Given the description of an element on the screen output the (x, y) to click on. 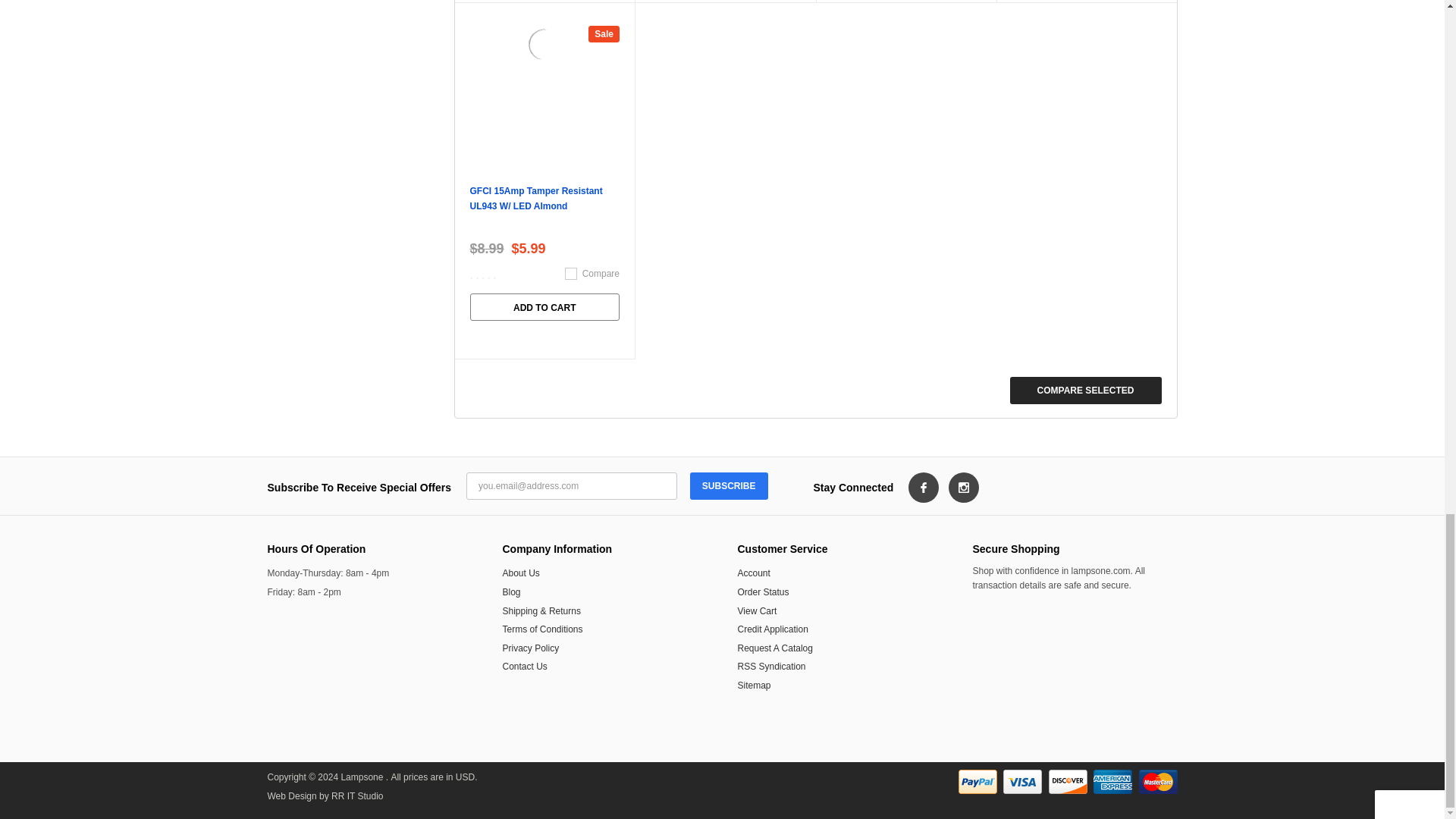
Subscribe (729, 485)
